Given the description of an element on the screen output the (x, y) to click on. 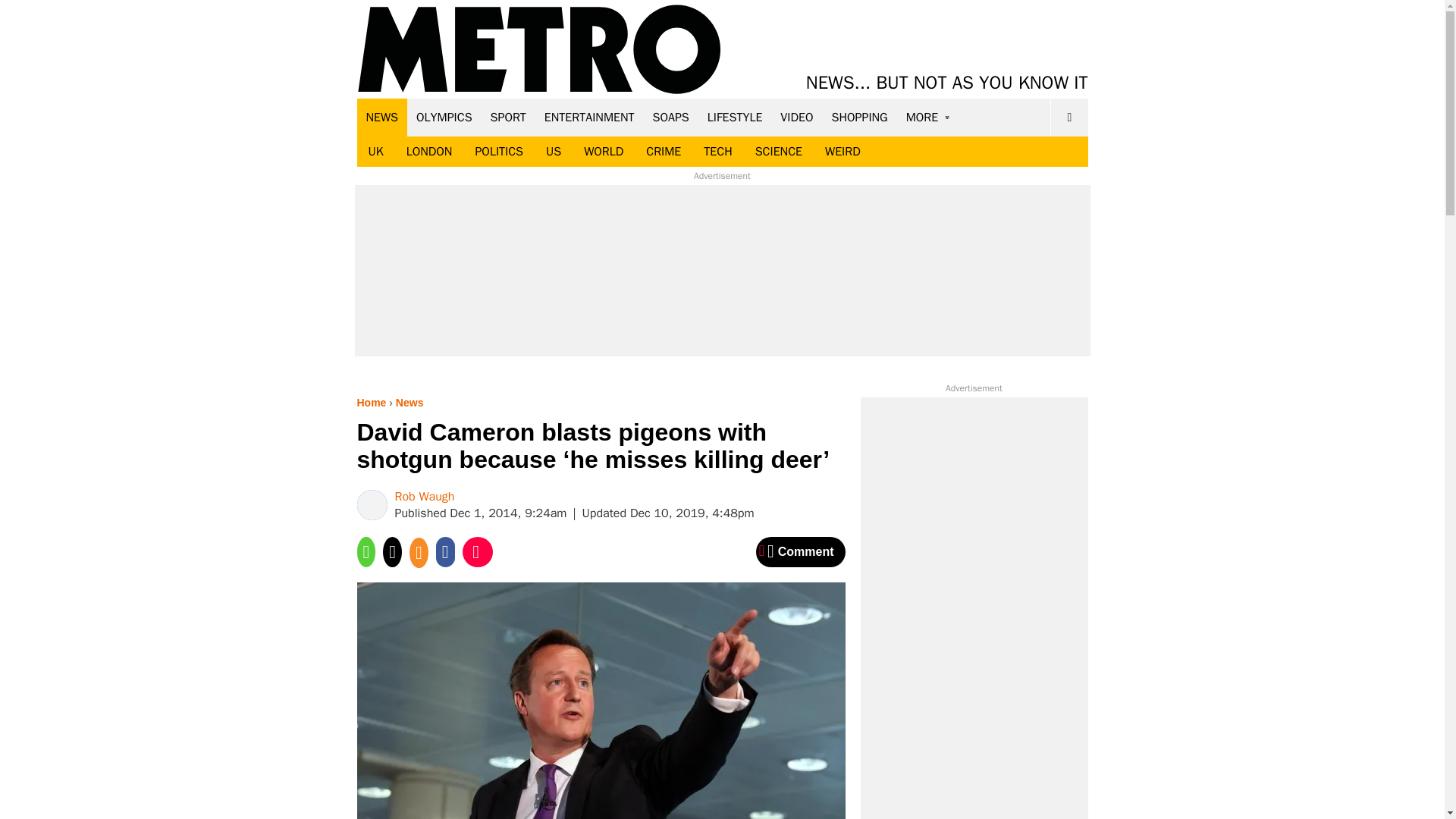
LIFESTYLE (734, 117)
NEWS (381, 117)
ENTERTAINMENT (589, 117)
CRIME (663, 151)
WORLD (603, 151)
SPORT (508, 117)
US (553, 151)
LONDON (429, 151)
SOAPS (670, 117)
TECH (717, 151)
